Given the description of an element on the screen output the (x, y) to click on. 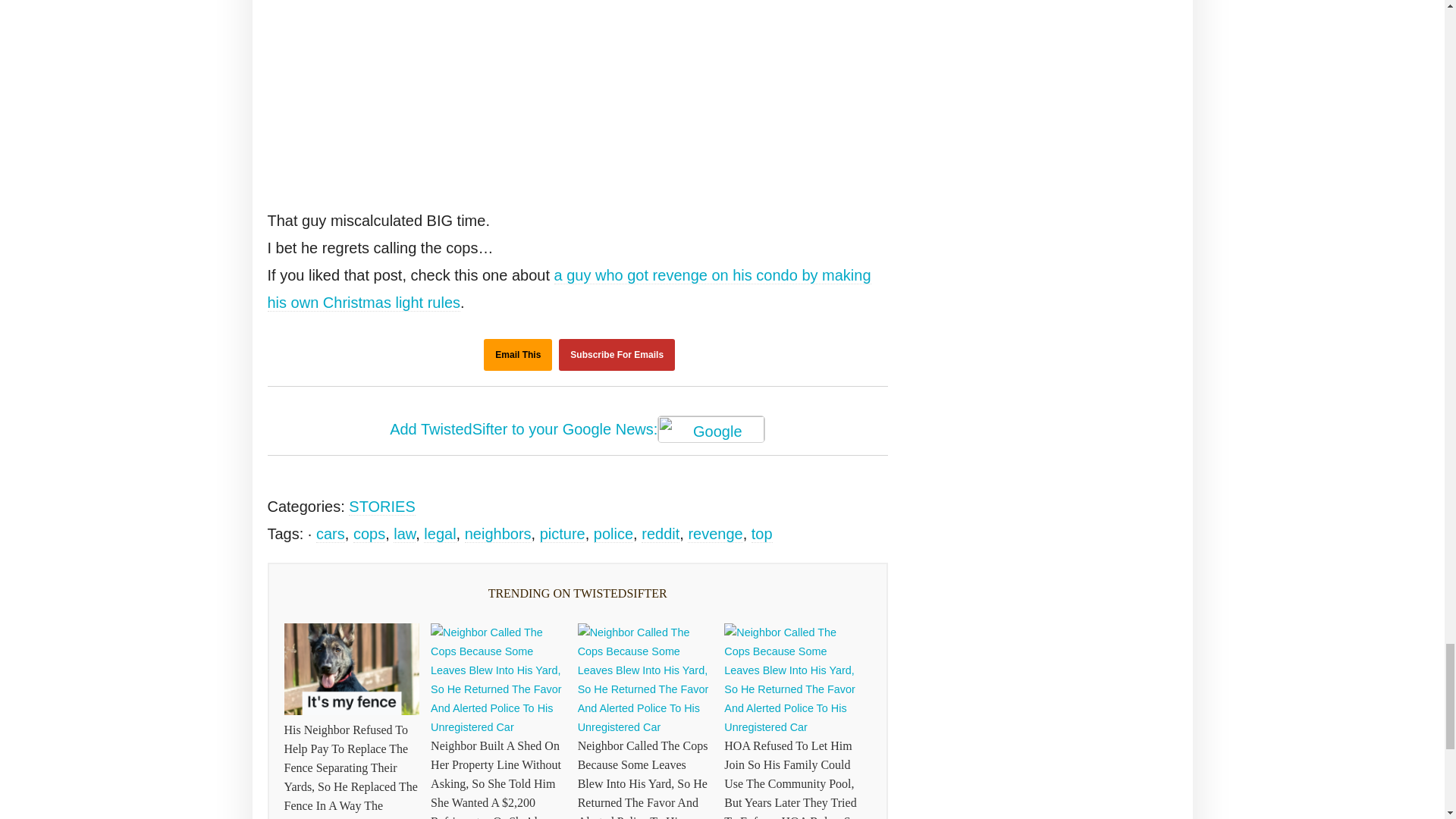
law (403, 533)
Subscribe For Emails (617, 355)
legal (439, 533)
cops (369, 533)
cars (330, 533)
Add TwistedSifter to your Google News: (577, 430)
STORIES (381, 506)
Email This (517, 355)
